Given the description of an element on the screen output the (x, y) to click on. 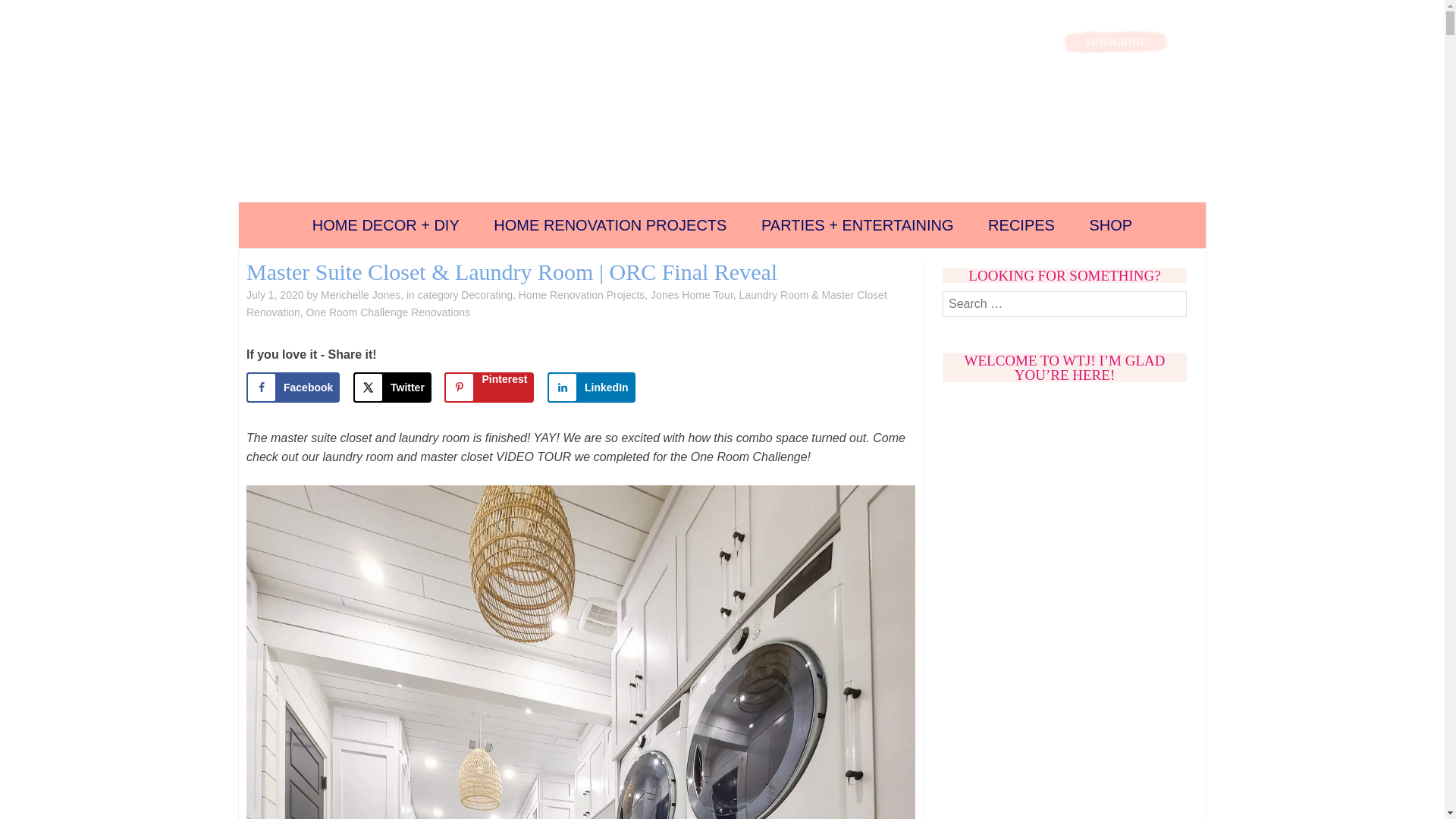
SKIP TO CONTENT (261, 216)
HOME RENOVATION PROJECTS (610, 225)
Save to Pinterest (489, 387)
July 1, 2020 (275, 295)
Share on LinkedIn (590, 387)
Merichelle Jones (360, 295)
SUBSCRIBE (1115, 41)
SHOP (1110, 225)
RECIPES (1021, 225)
Share on Facebook (292, 387)
